Given the description of an element on the screen output the (x, y) to click on. 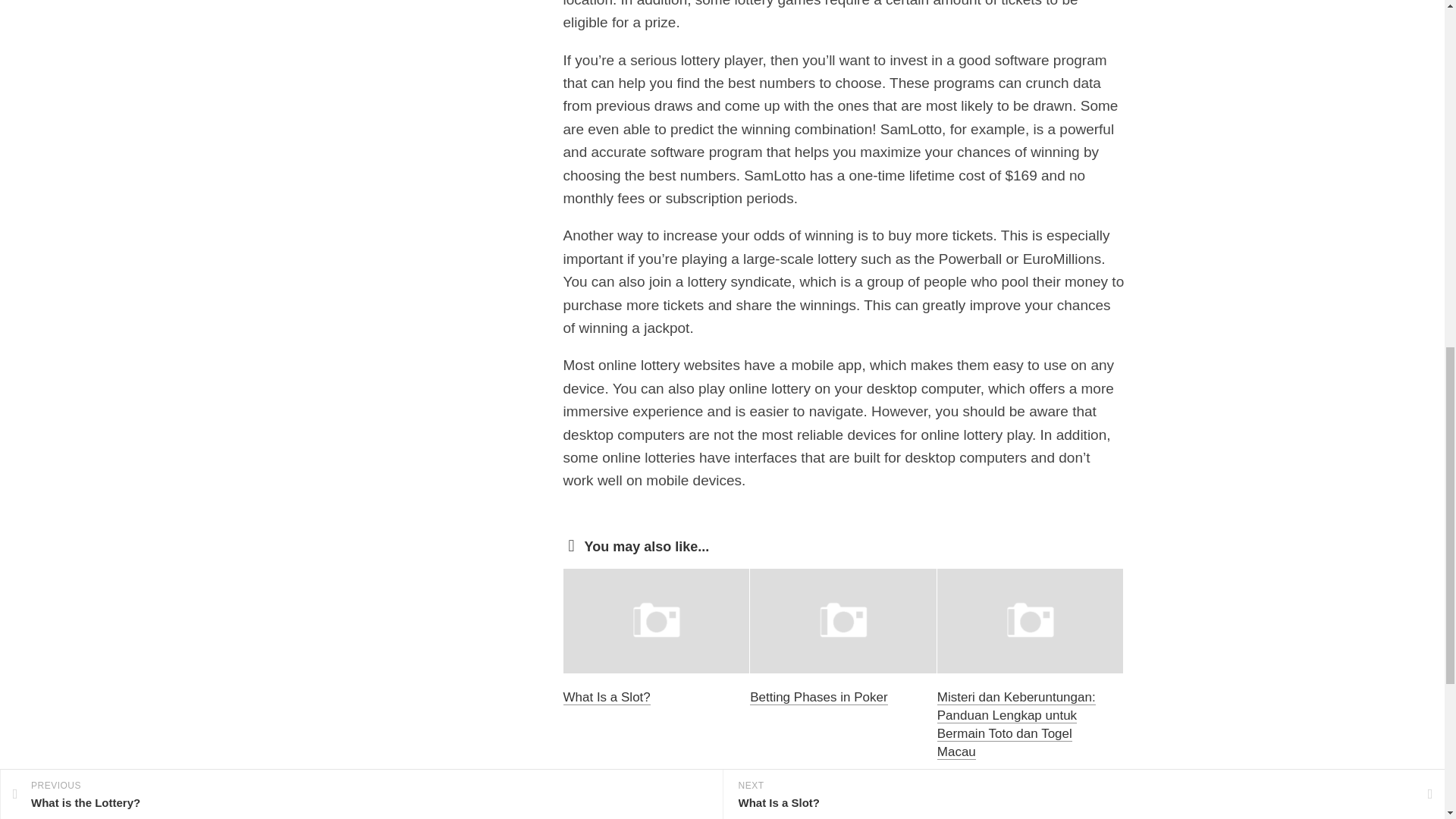
What Is a Slot? (605, 697)
Betting Phases in Poker (817, 697)
